Given the description of an element on the screen output the (x, y) to click on. 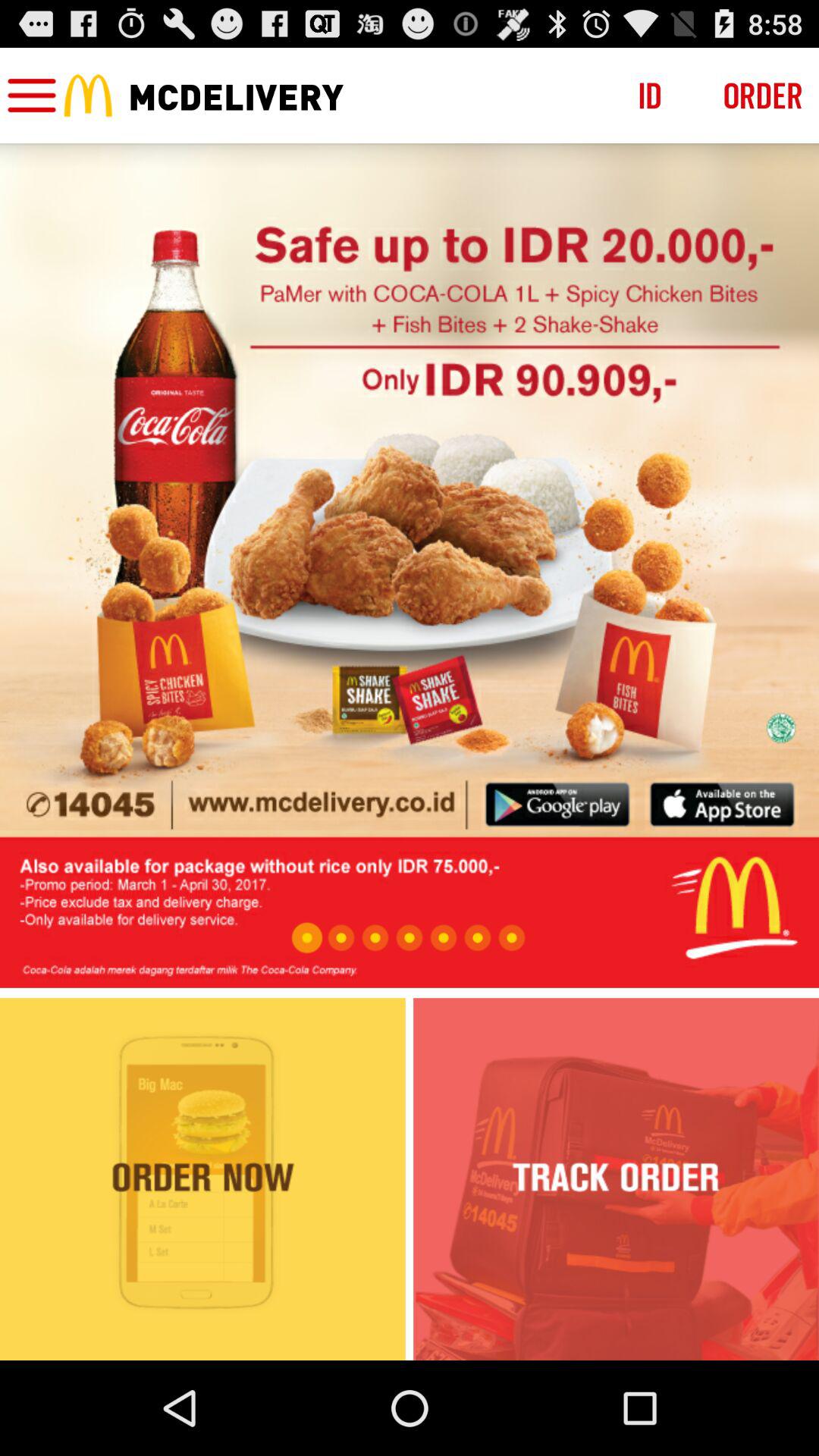
click on id left to order (649, 95)
click on the icon next to menu icon (87, 95)
click on the button which is next to id (762, 95)
